Given the description of an element on the screen output the (x, y) to click on. 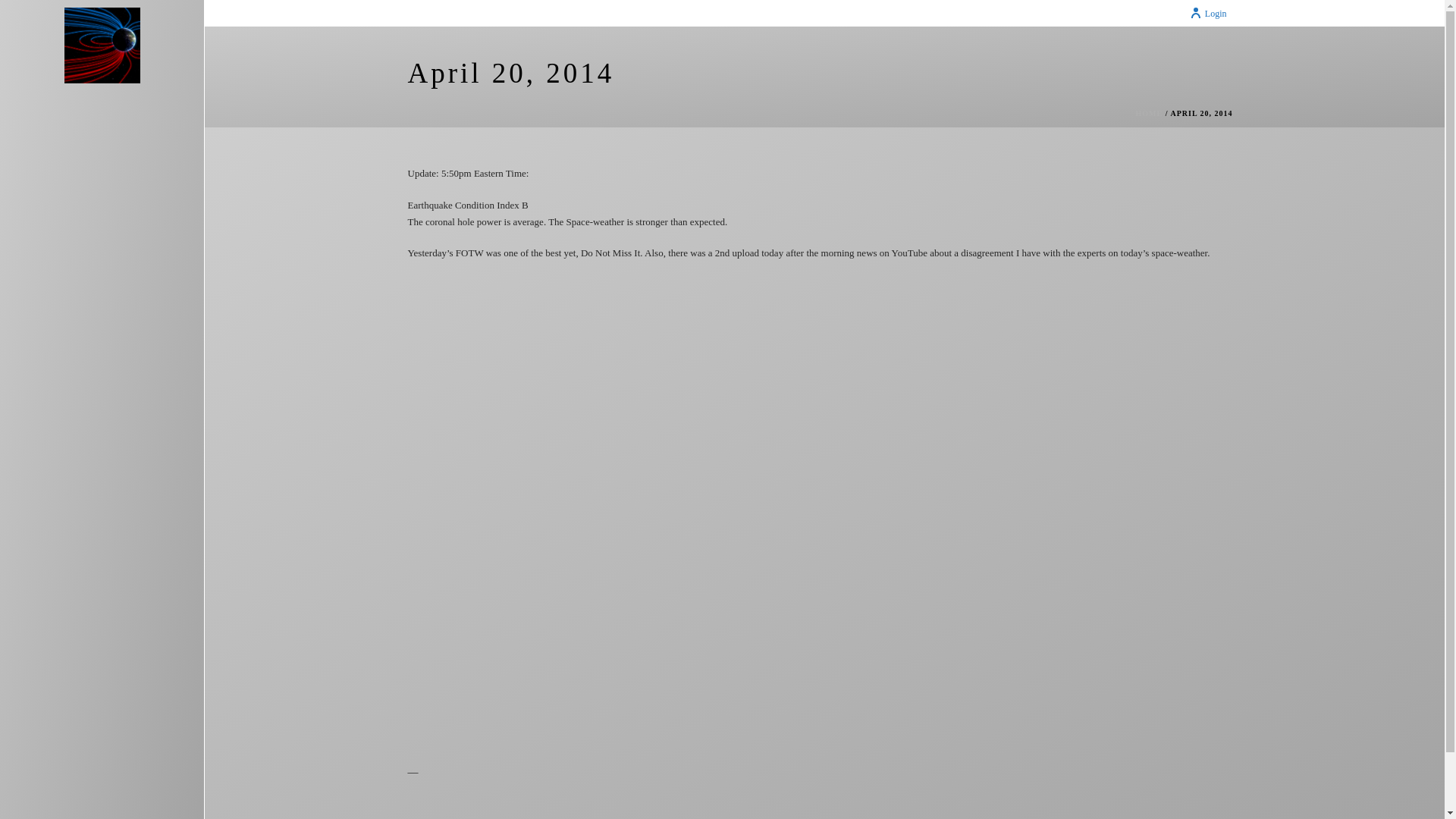
Login (1208, 13)
HOME (1149, 112)
Your Mind is Your Weapon (101, 45)
